Given the description of an element on the screen output the (x, y) to click on. 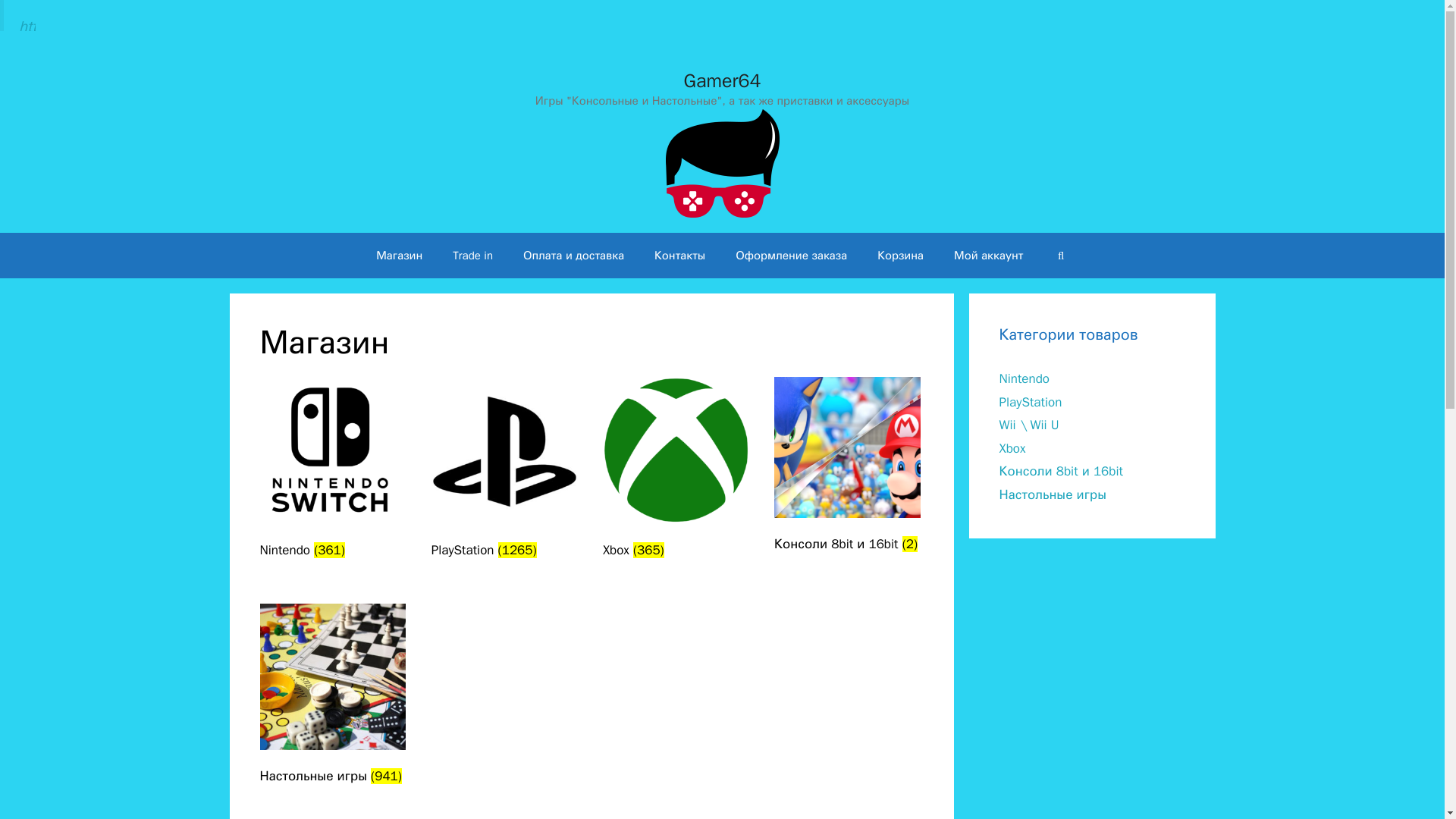
Trade in (473, 255)
Gamer64 (722, 80)
PlayStation (1030, 401)
Nintendo (1023, 378)
Gamer64 (721, 162)
Gamer64 (721, 162)
Xbox (1012, 448)
